Given the description of an element on the screen output the (x, y) to click on. 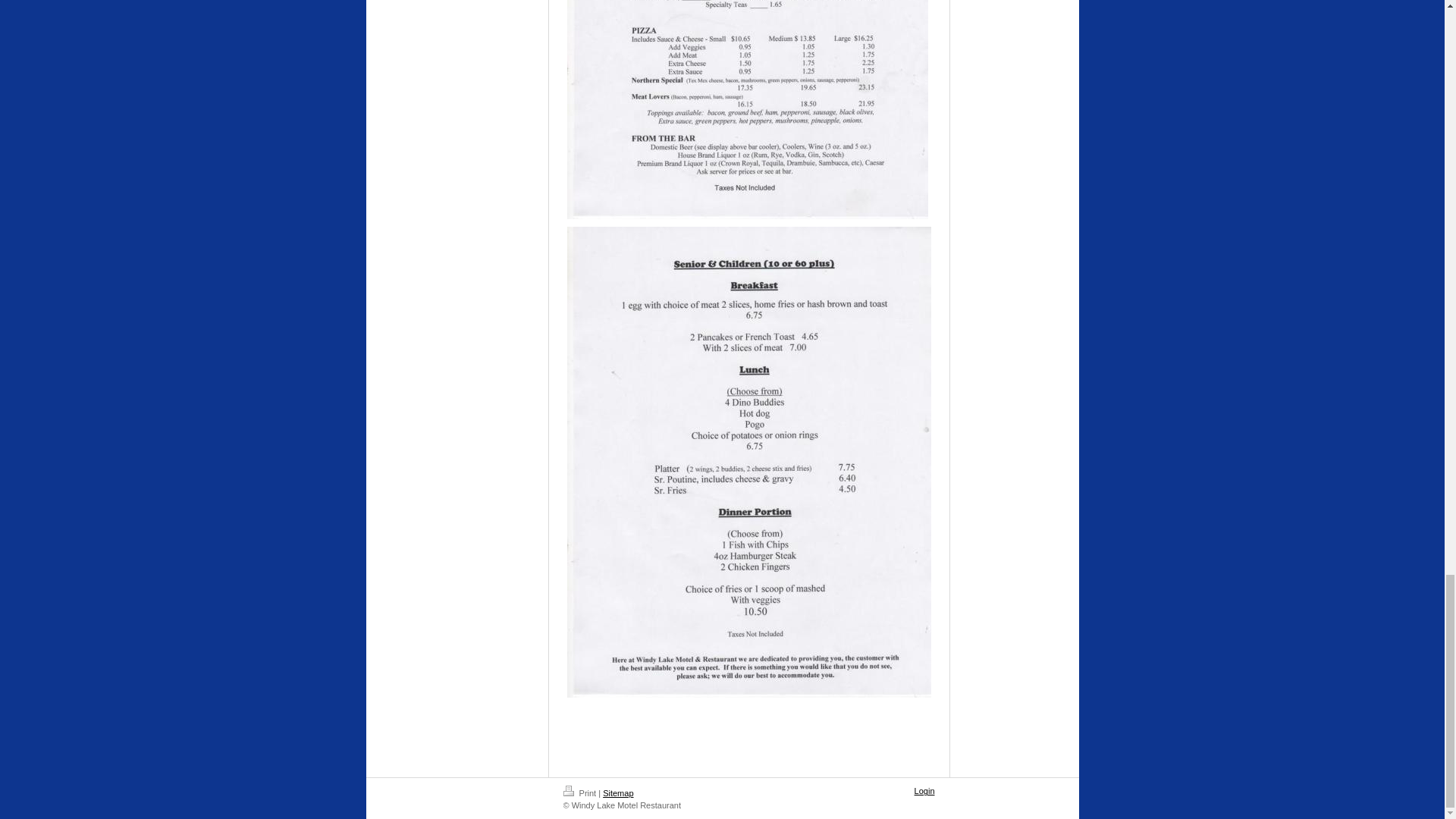
Sitemap (617, 792)
Print (580, 792)
Login (924, 790)
